Given the description of an element on the screen output the (x, y) to click on. 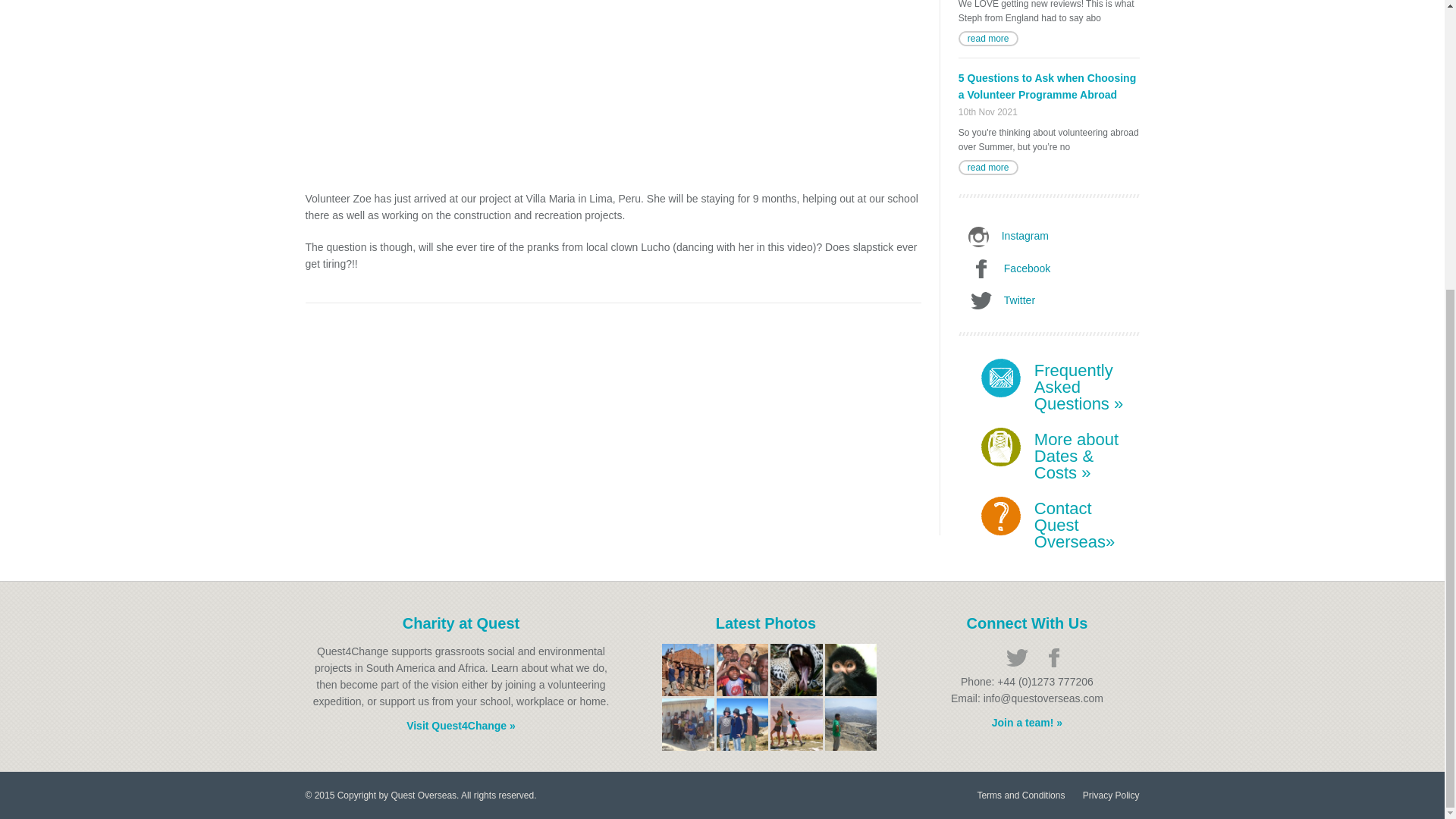
300-Malawi-building-an-Orphanage (688, 669)
negro (851, 669)
jaguar-wide-mouth (796, 669)
alejandro-vm (851, 724)
Mike Lamb's Photos Malawi Orphans 07 007 (742, 669)
Quest-team-with-family-outside-a-new-house (688, 724)
Contact (1086, 532)
Facebook (1053, 269)
When and how much? (1086, 463)
Twitter (1053, 300)
read more (987, 167)
read more (987, 38)
FAQ (1078, 394)
Instagram (1053, 236)
